Given the description of an element on the screen output the (x, y) to click on. 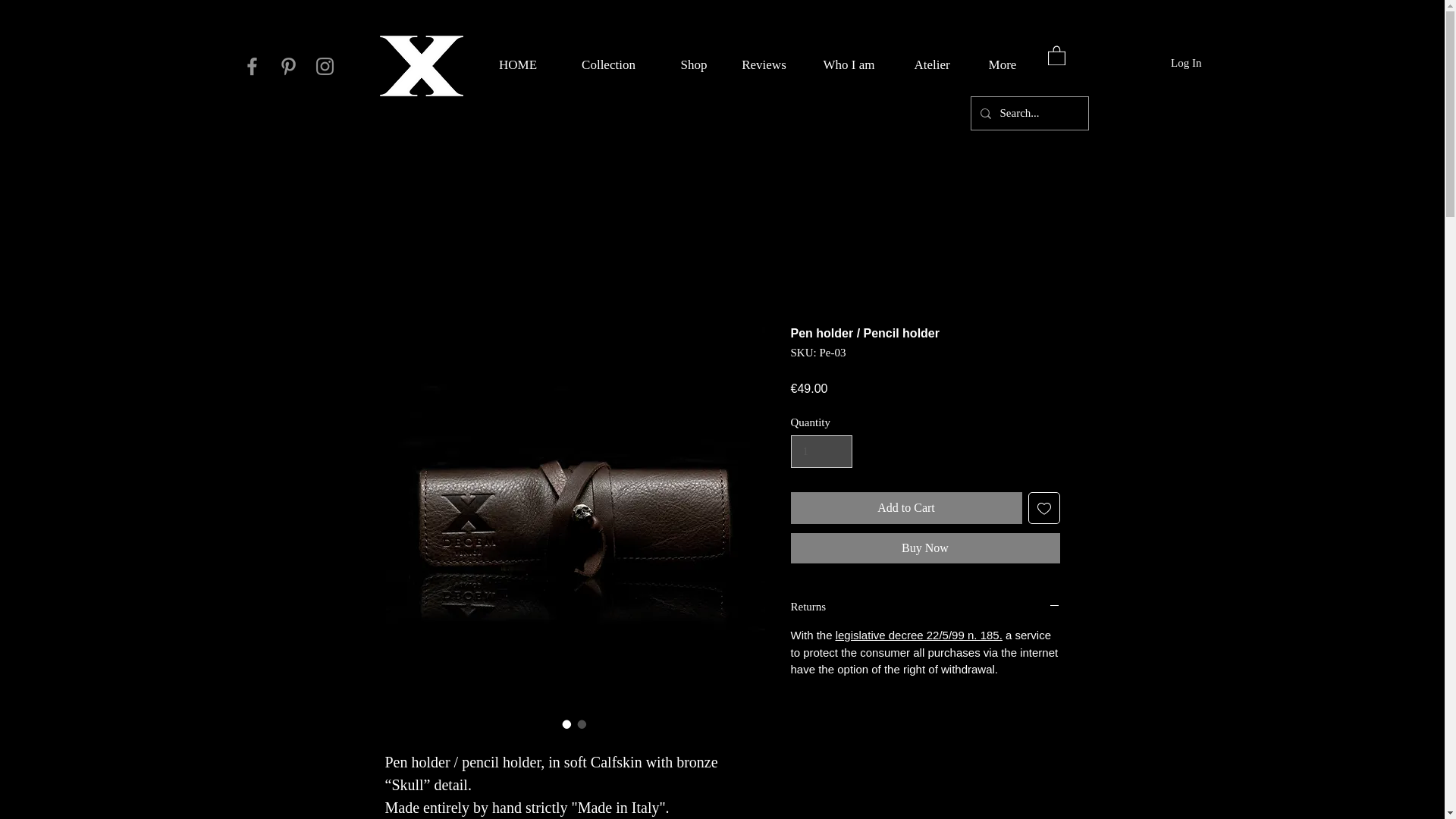
HOME (517, 64)
Shop (693, 64)
Who I am (848, 64)
1 (820, 451)
Atelier (931, 64)
Reviews (763, 64)
Collection (608, 64)
Log In (1185, 62)
